Given the description of an element on the screen output the (x, y) to click on. 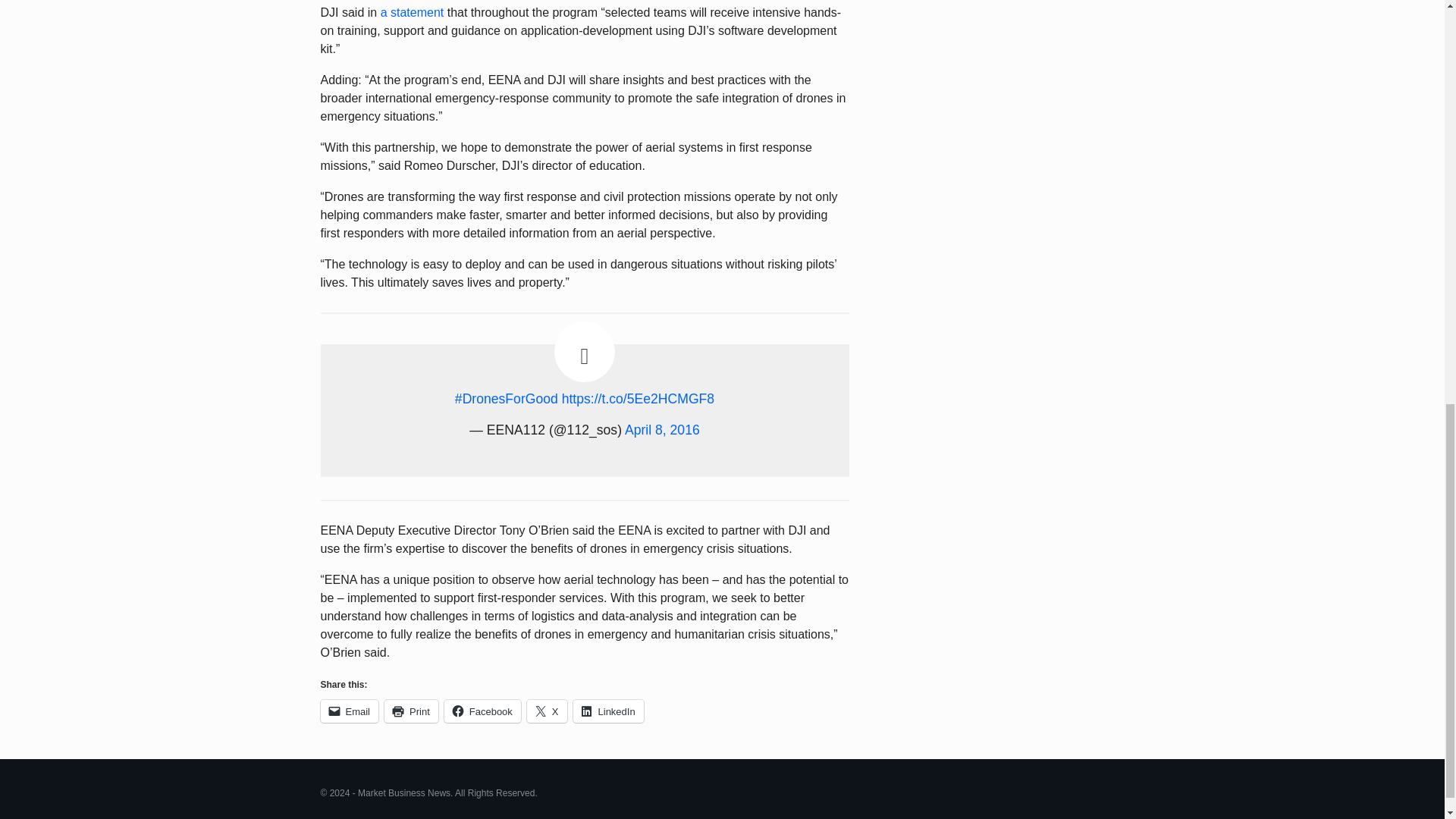
Click to share on LinkedIn (608, 711)
Click to print (411, 711)
Click to email a link to a friend (349, 711)
a statement (412, 11)
Click to share on X (547, 711)
Email (349, 711)
April 8, 2016 (662, 429)
Click to share on Facebook (482, 711)
Facebook (482, 711)
Print (411, 711)
